Given the description of an element on the screen output the (x, y) to click on. 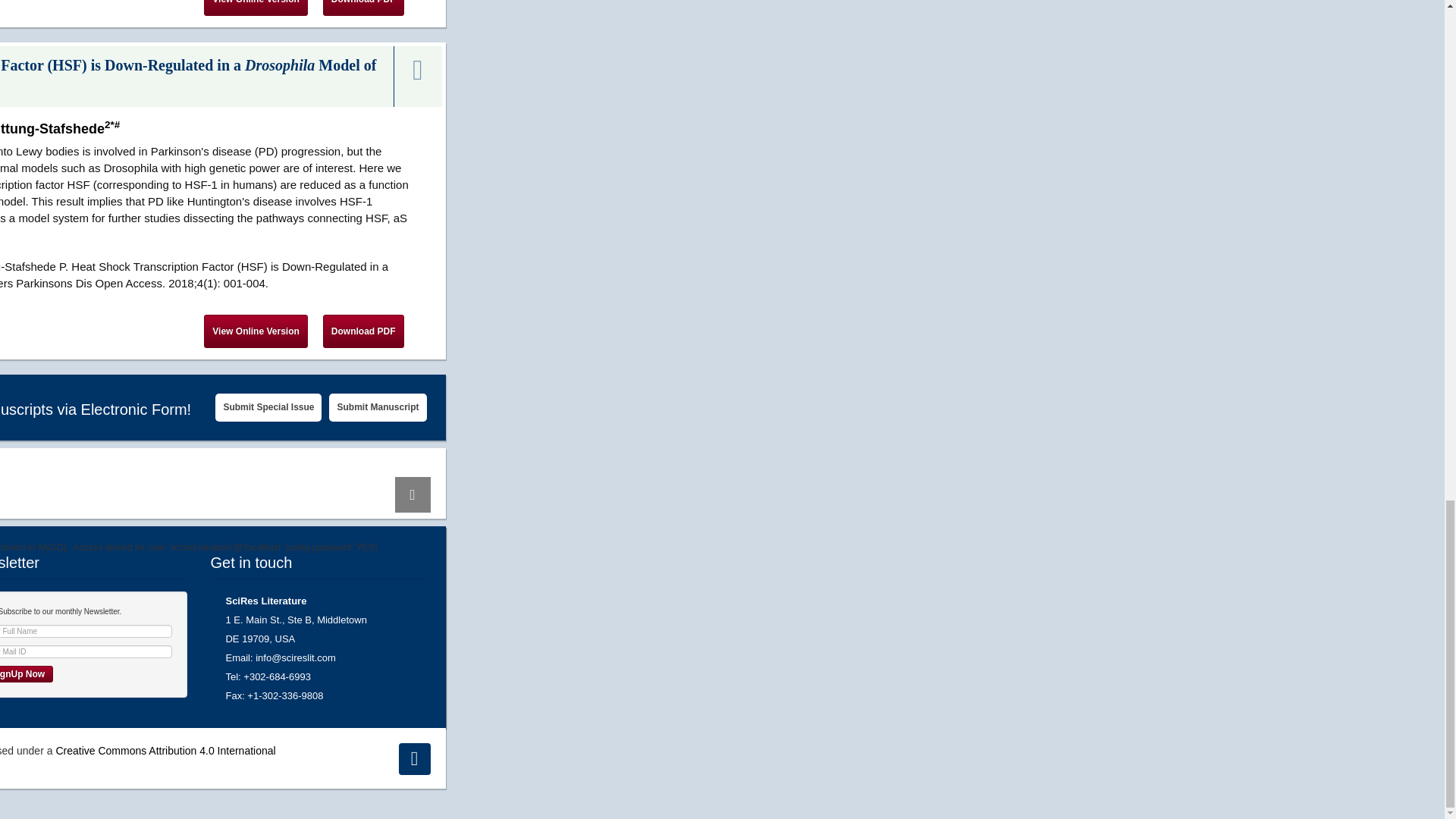
Download PDF (363, 331)
View Online Version (255, 7)
Submit Manuscript (377, 407)
View Online Version (255, 331)
Your Mail ID (85, 651)
Your Full Name (85, 631)
View Online Version (255, 331)
Download PDF (363, 7)
Submit Special Issue (268, 407)
Download PDF (363, 331)
Download PDF (363, 7)
SignUp Now (26, 673)
View Online Version (255, 7)
